Given the description of an element on the screen output the (x, y) to click on. 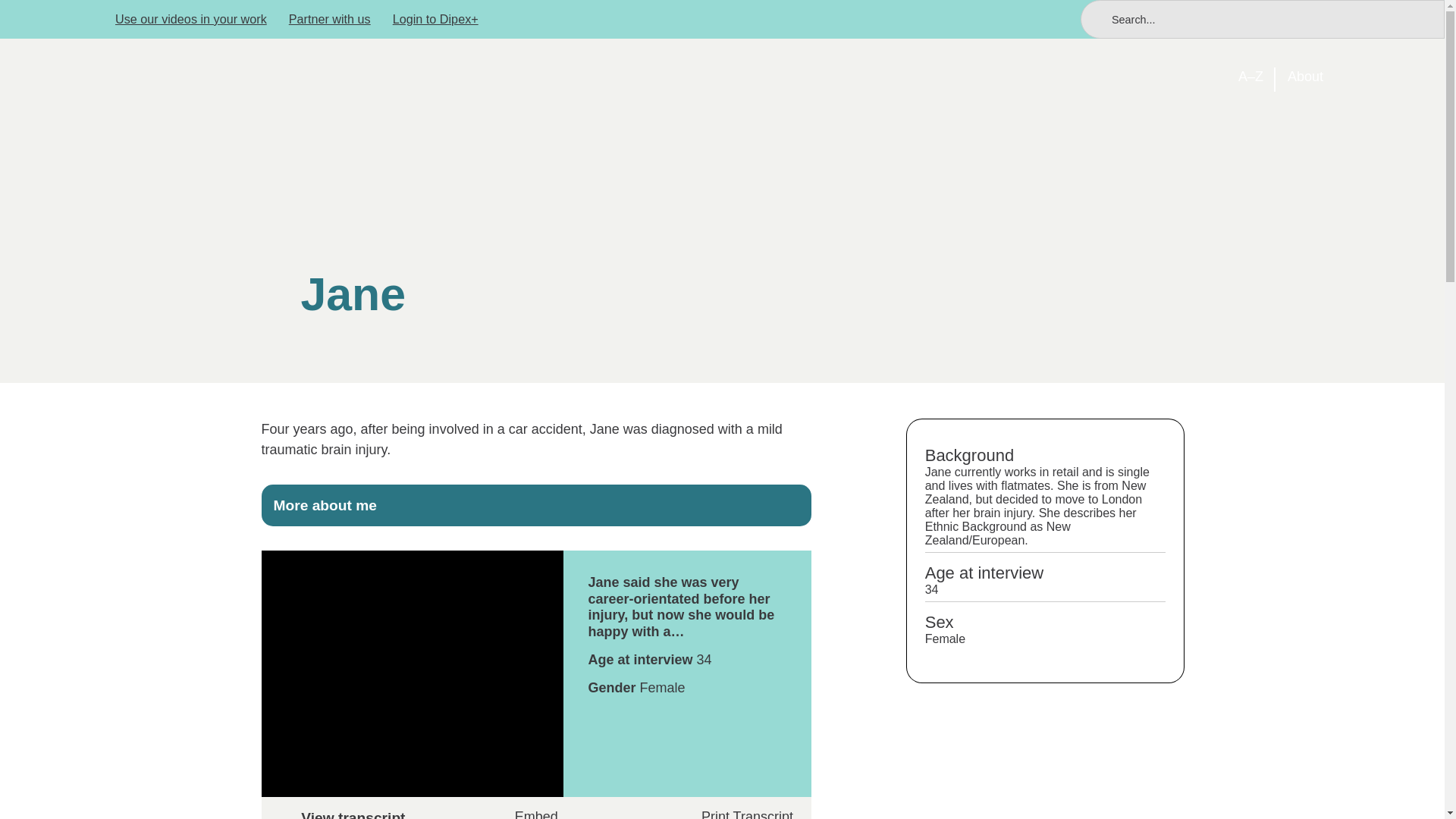
More about me (535, 505)
About (1305, 76)
Use our videos in your work (190, 18)
Partner with us (329, 18)
Print Transcript (736, 814)
View transcript (535, 814)
Embed (536, 811)
